Given the description of an element on the screen output the (x, y) to click on. 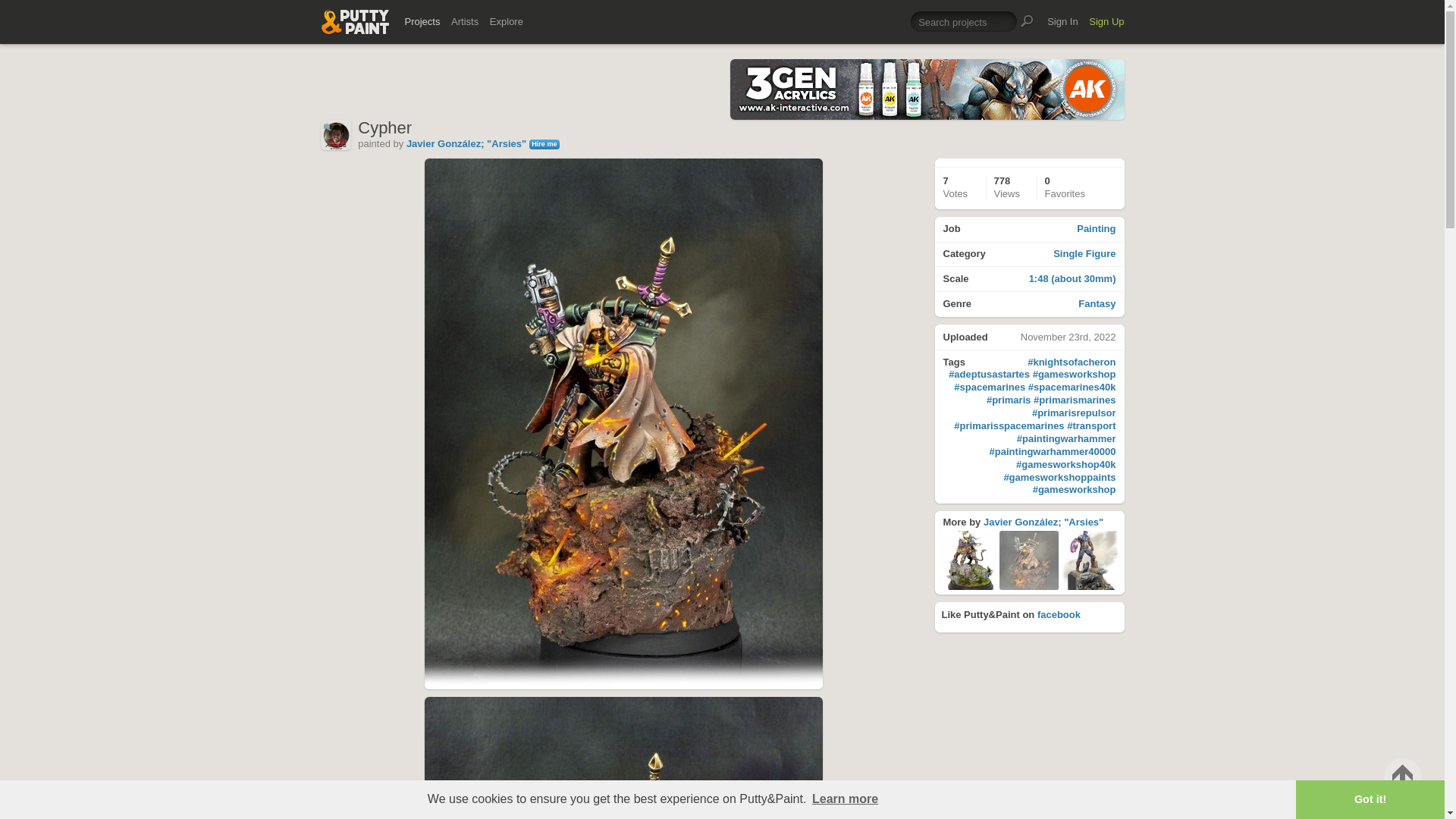
Sign Up (1106, 21)
Artists (465, 21)
View Profile (1043, 521)
Search projects (1030, 303)
Learn more (1030, 229)
Explore (963, 21)
Sign In (844, 798)
View Against Hydra, we've hope. (505, 21)
facebook (1030, 254)
Projects (1061, 21)
AK Interactive (1089, 559)
View Vandus Hammerhand (1058, 614)
